Given the description of an element on the screen output the (x, y) to click on. 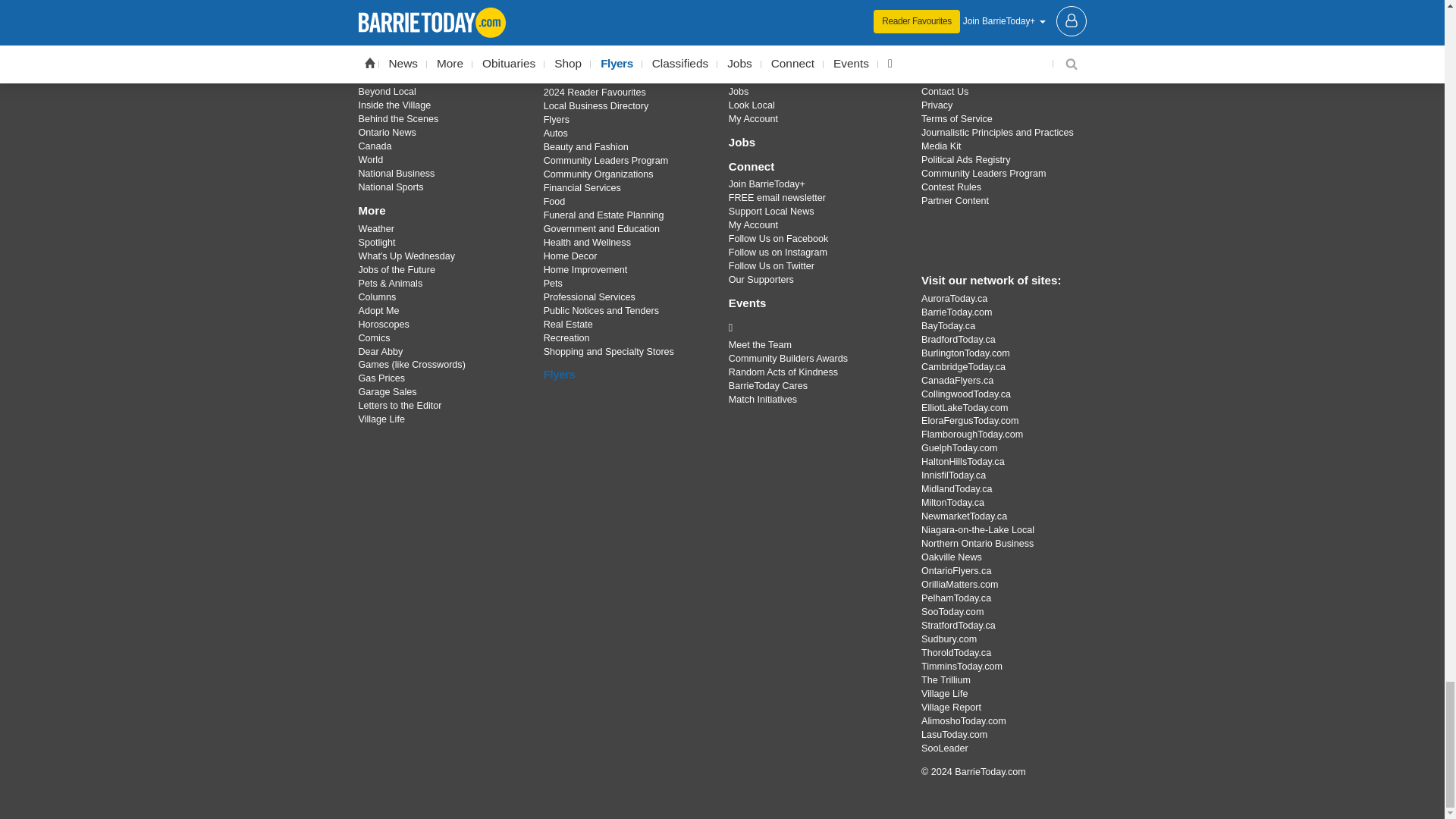
BarrieToday Cares (813, 327)
